Given the description of an element on the screen output the (x, y) to click on. 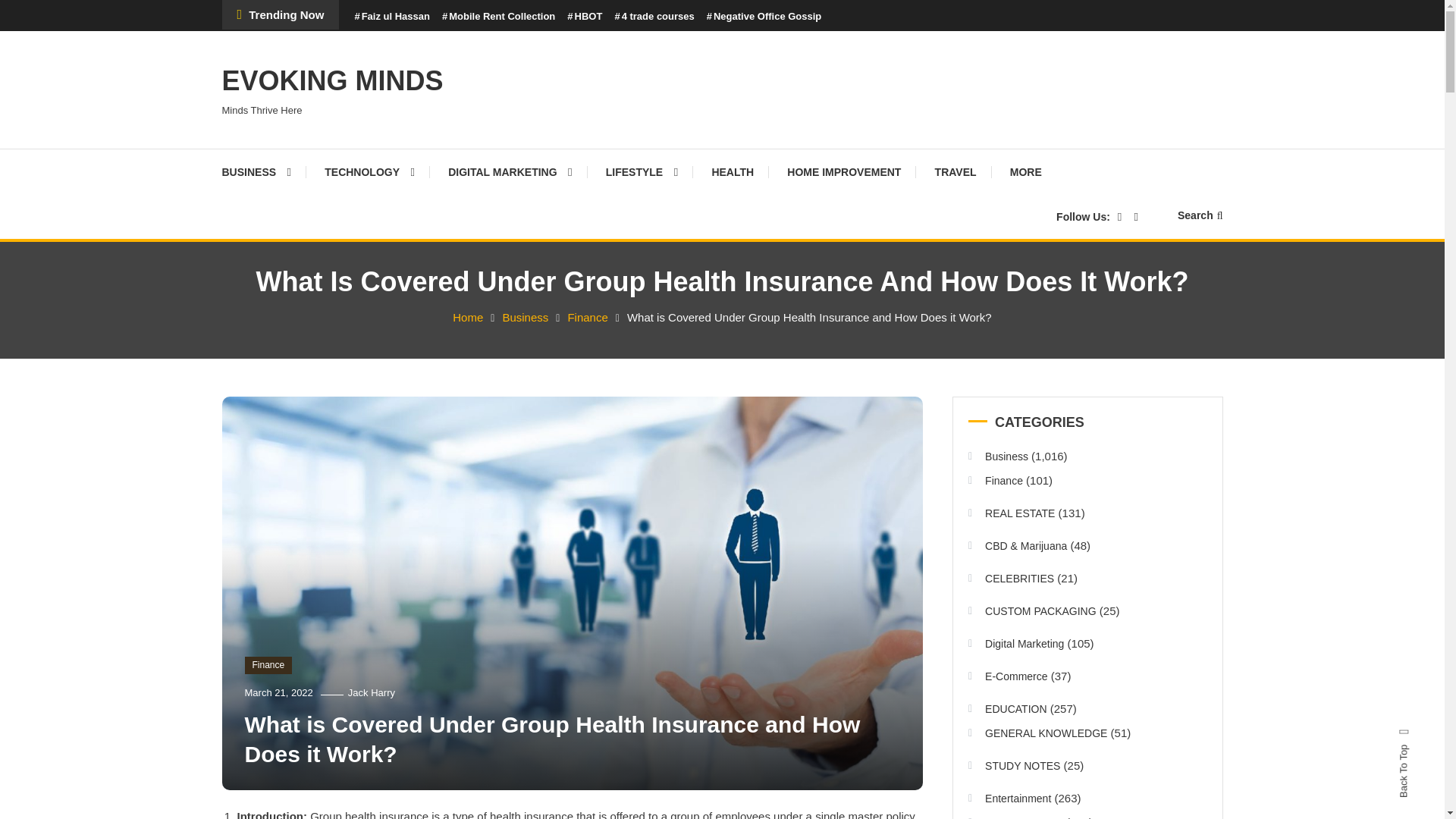
LIFESTYLE (642, 171)
HEALTH (731, 171)
4 trade courses (654, 16)
Search (768, 432)
MORE (1025, 171)
Home (467, 317)
HBOT (584, 16)
EVOKING MINDS (331, 80)
Faiz ul Hassan (391, 16)
BUSINESS (263, 171)
